Given the description of an element on the screen output the (x, y) to click on. 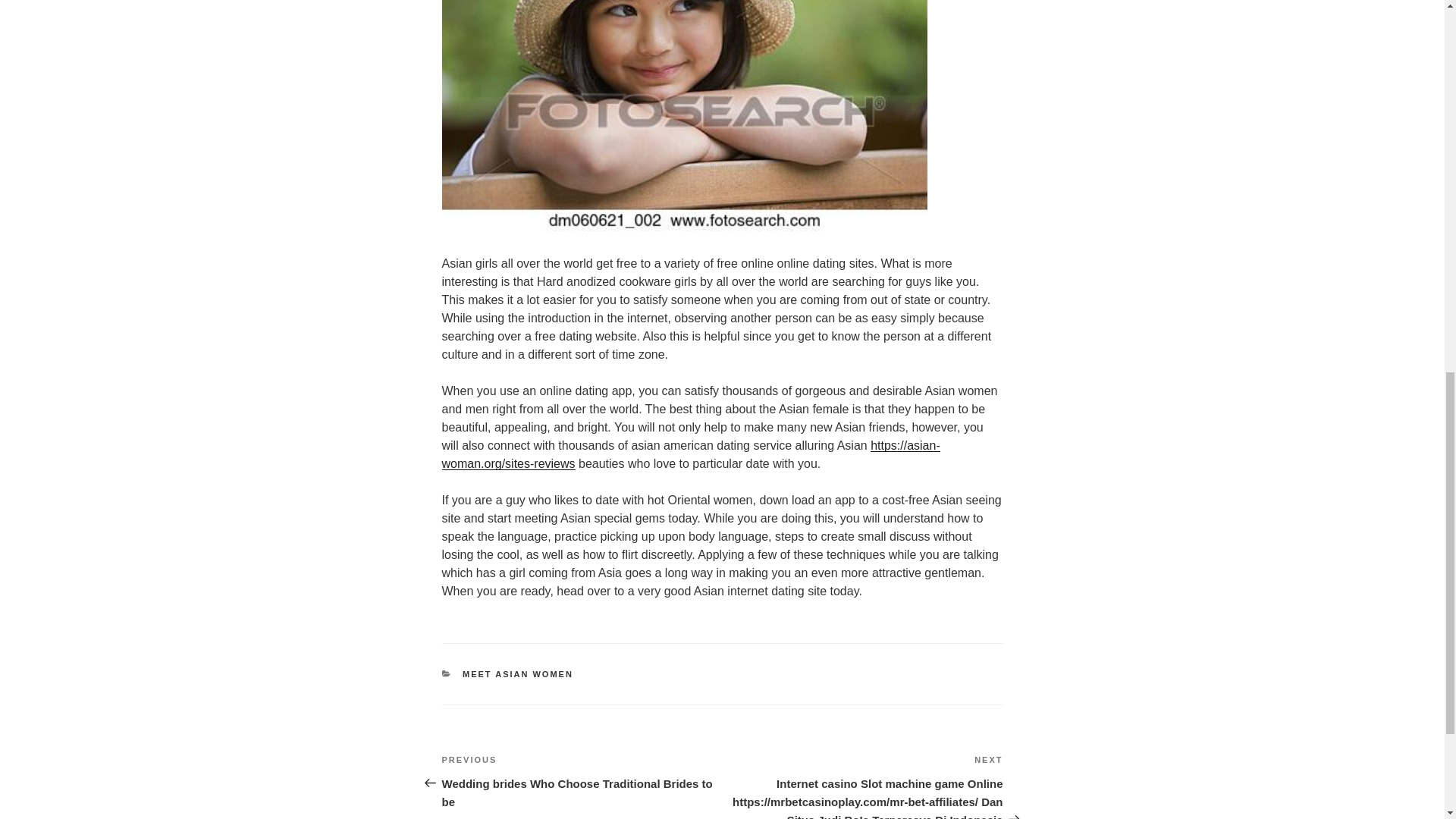
MEET ASIAN WOMEN (518, 673)
